Given the description of an element on the screen output the (x, y) to click on. 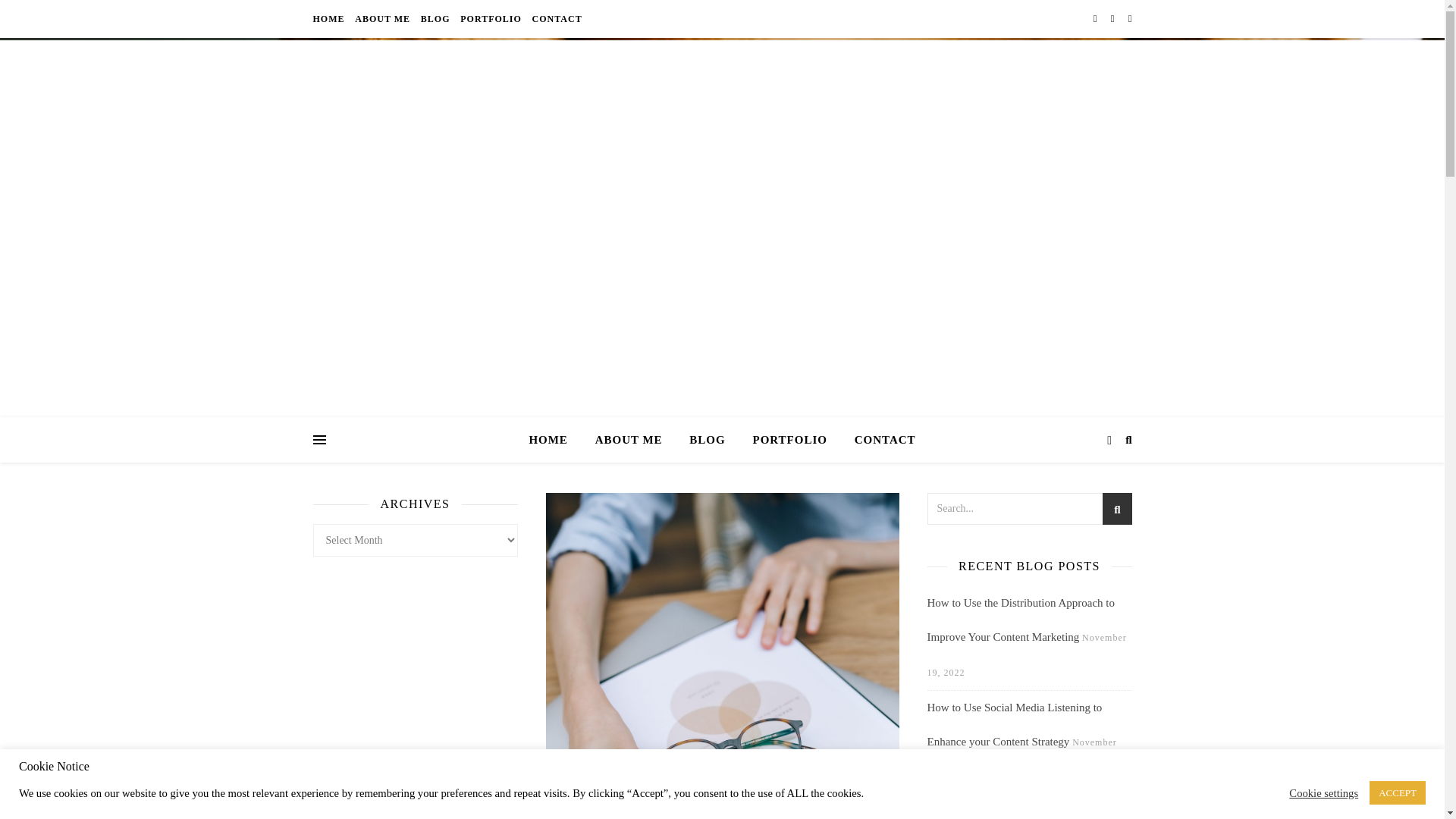
HOME (553, 439)
BLOG (435, 18)
PORTFOLIO (491, 18)
BLOG (706, 439)
CONTACT (879, 439)
ABOUT ME (629, 439)
CONTACT (555, 18)
PORTFOLIO (788, 439)
ABOUT ME (381, 18)
HOME (330, 18)
